Given the description of an element on the screen output the (x, y) to click on. 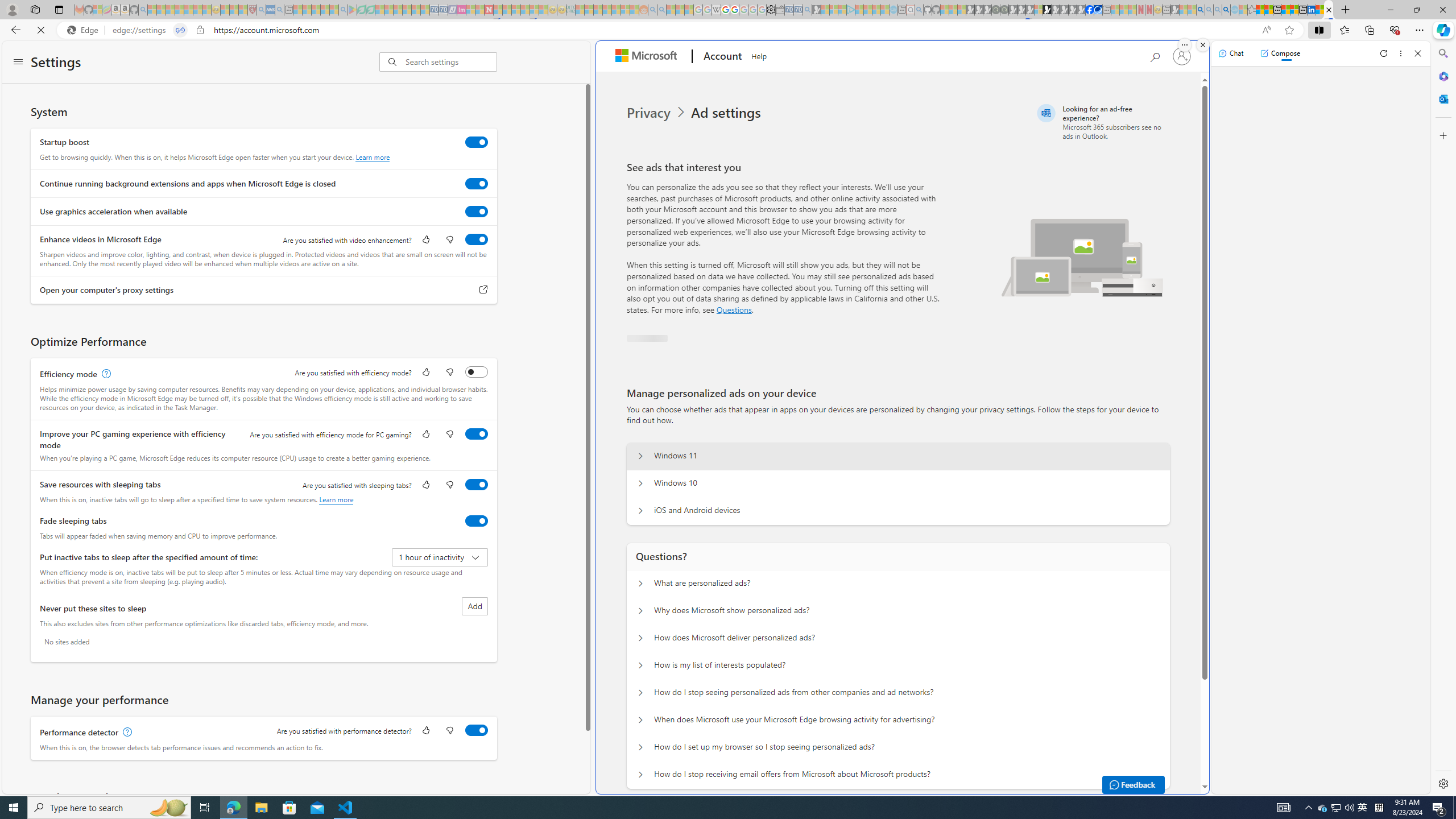
Expert Portfolios - Sleeping (606, 9)
Microsoft Start Gaming - Sleeping (815, 9)
Efficiency mode, learn more (104, 374)
Bing AI - Search (1200, 9)
Questions? How does Microsoft deliver personalized ads? (640, 638)
Add site to never put these sites to sleep list (474, 606)
